Given the description of an element on the screen output the (x, y) to click on. 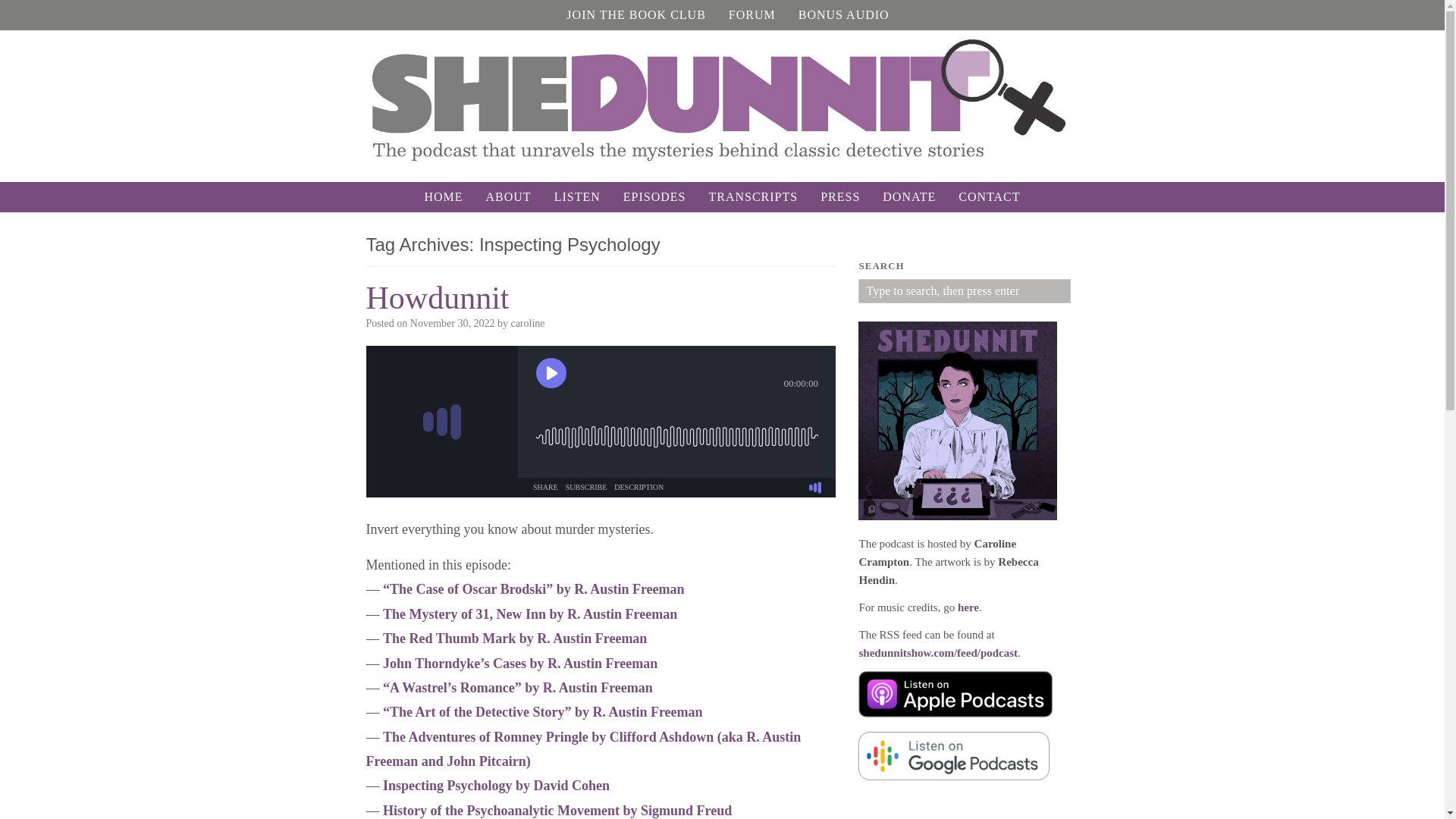
The Mystery of 31, New Inn by R. Austin Freeman (529, 613)
Type to search, then press enter (964, 291)
JOIN THE BOOK CLUB (635, 15)
History of the Psychoanalytic Movement by Sigmund Freud (557, 810)
TRANSCRIPTS (753, 196)
Howdunnit (436, 297)
View all posts by caroline (527, 323)
FORUM (752, 15)
The Red Thumb Mark by R. Austin Freeman (514, 638)
DONATE (908, 196)
HOME (443, 196)
Howdunnit (436, 297)
CONTACT (988, 196)
PRESS (839, 196)
Inspecting Psychology by David Cohen (496, 785)
